Given the description of an element on the screen output the (x, y) to click on. 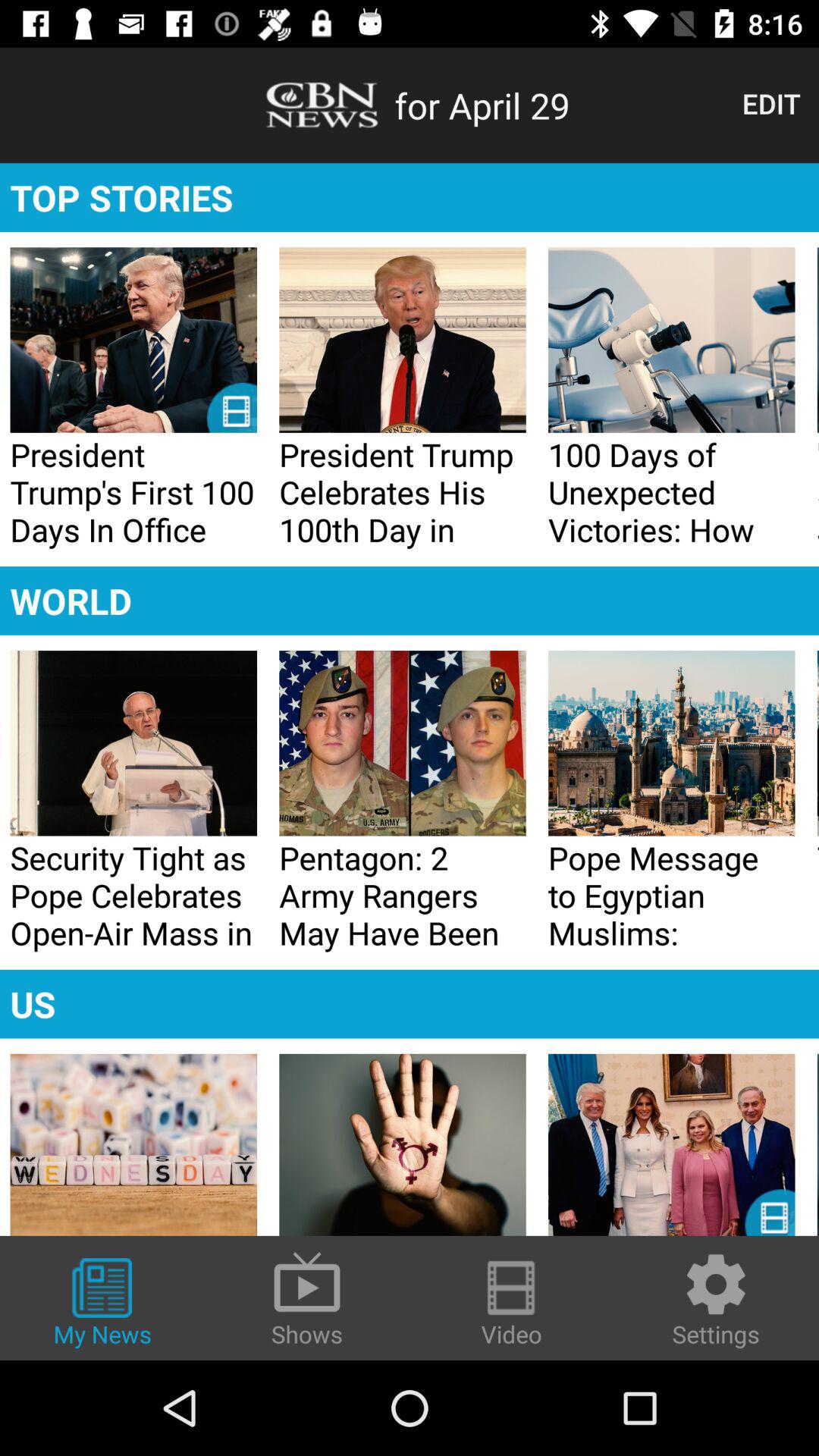
flip until the my news item (102, 1304)
